Given the description of an element on the screen output the (x, y) to click on. 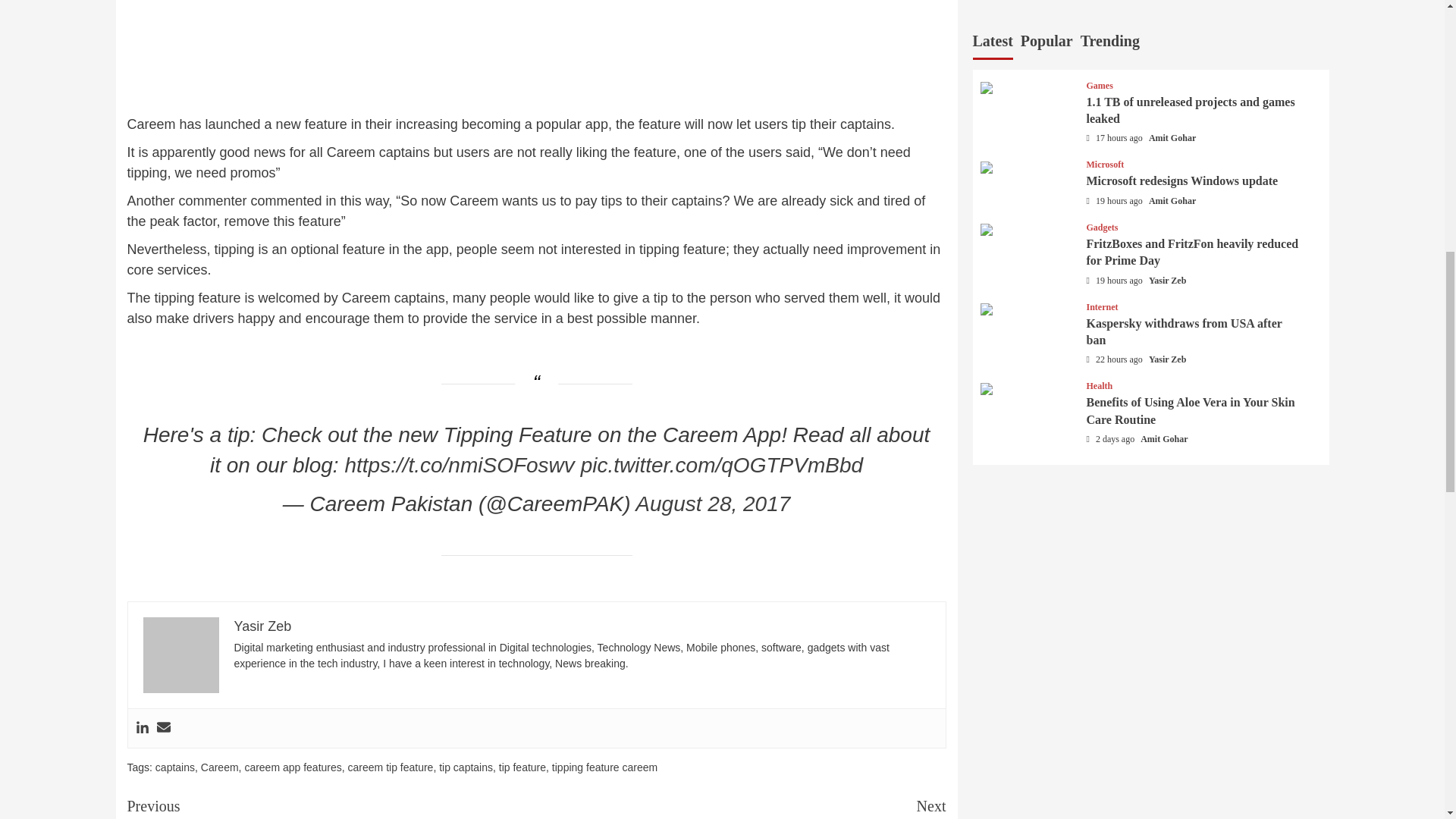
careem app features (292, 767)
Yasir Zeb (261, 626)
August 28, 2017 (712, 503)
captains (175, 767)
Careem (219, 767)
